Given the description of an element on the screen output the (x, y) to click on. 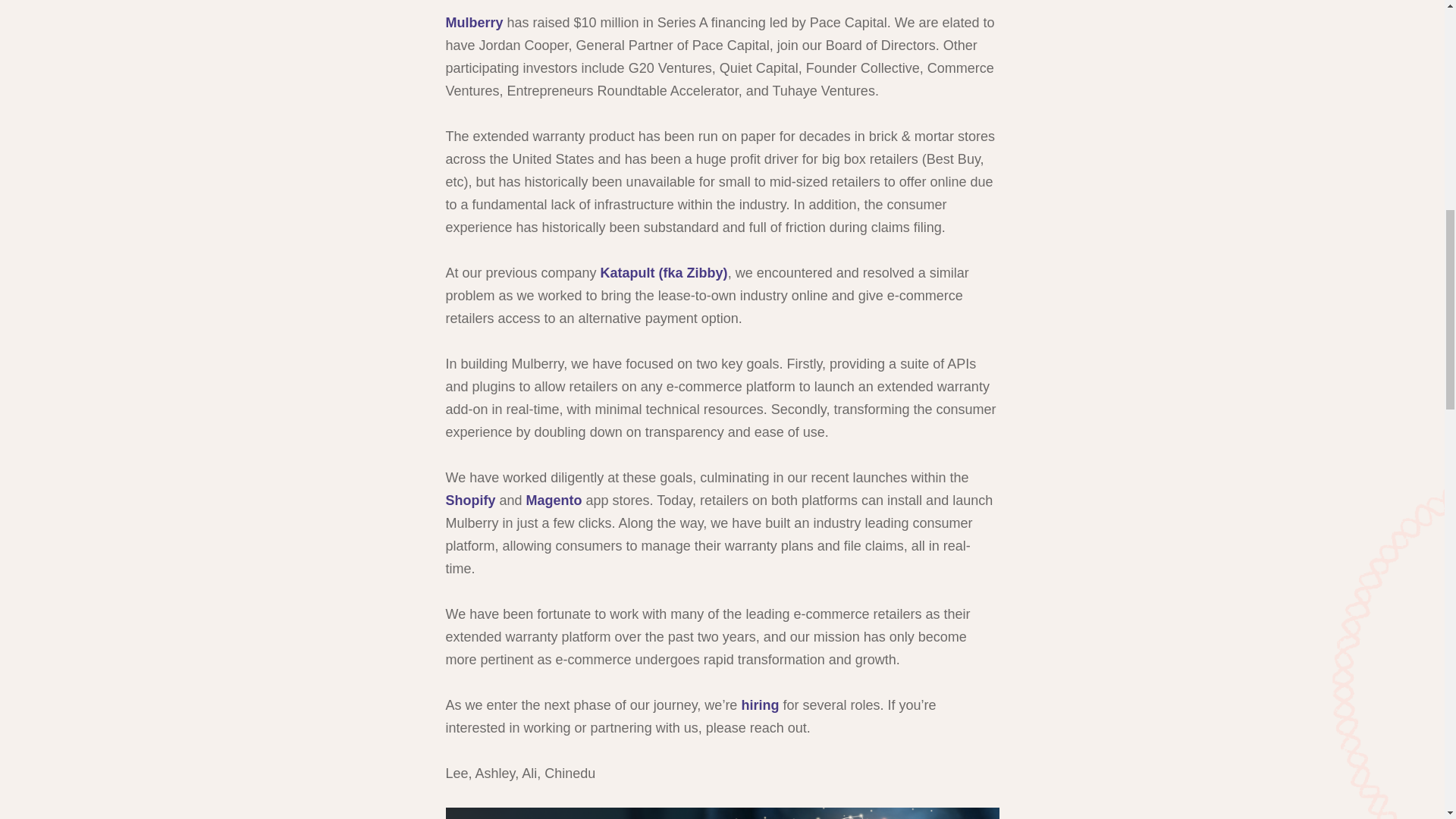
hiring (759, 704)
Magento (553, 500)
Shopify (470, 500)
Mulberry (474, 22)
